Given the description of an element on the screen output the (x, y) to click on. 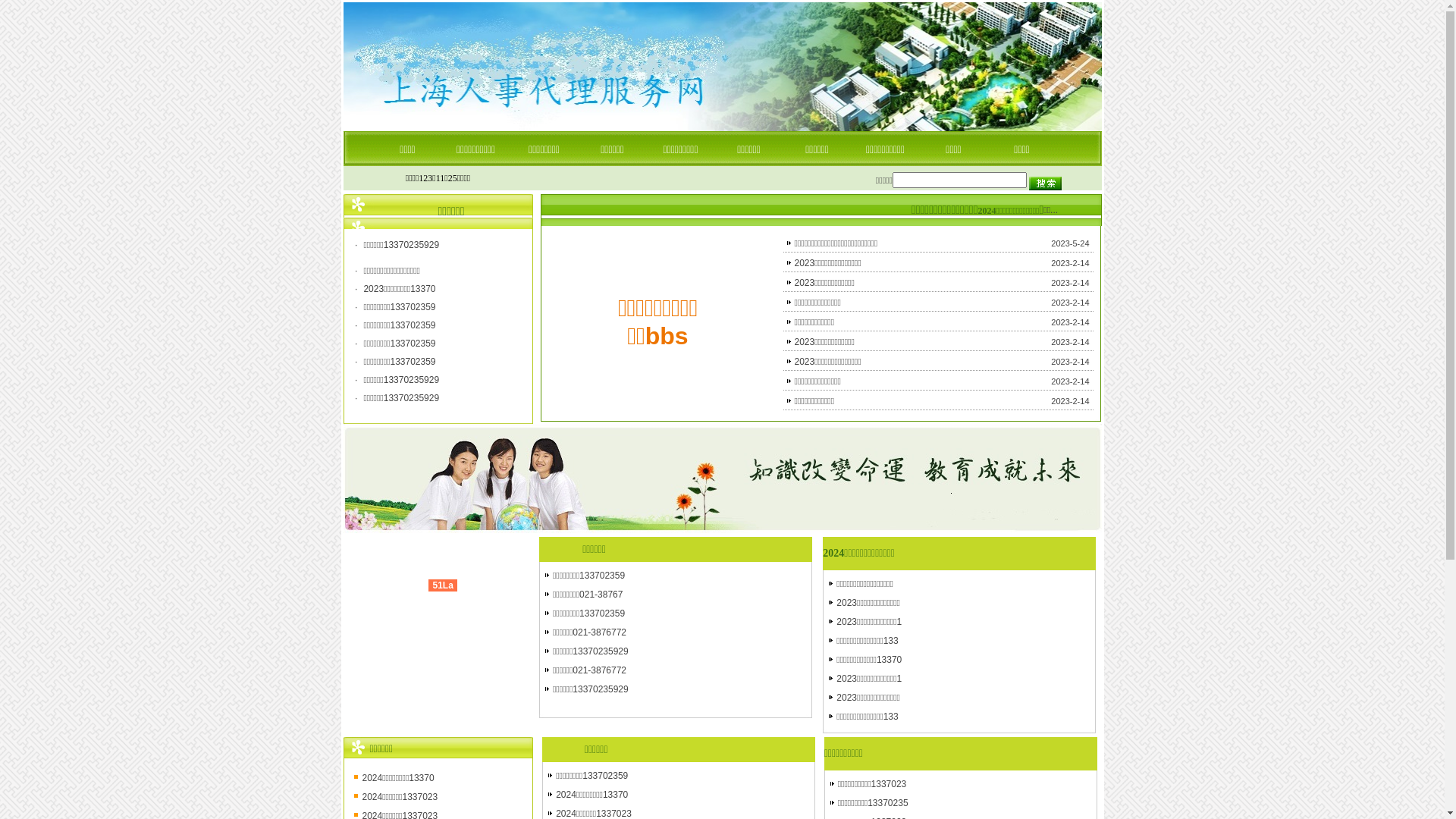
51La Element type: text (442, 585)
